Given the description of an element on the screen output the (x, y) to click on. 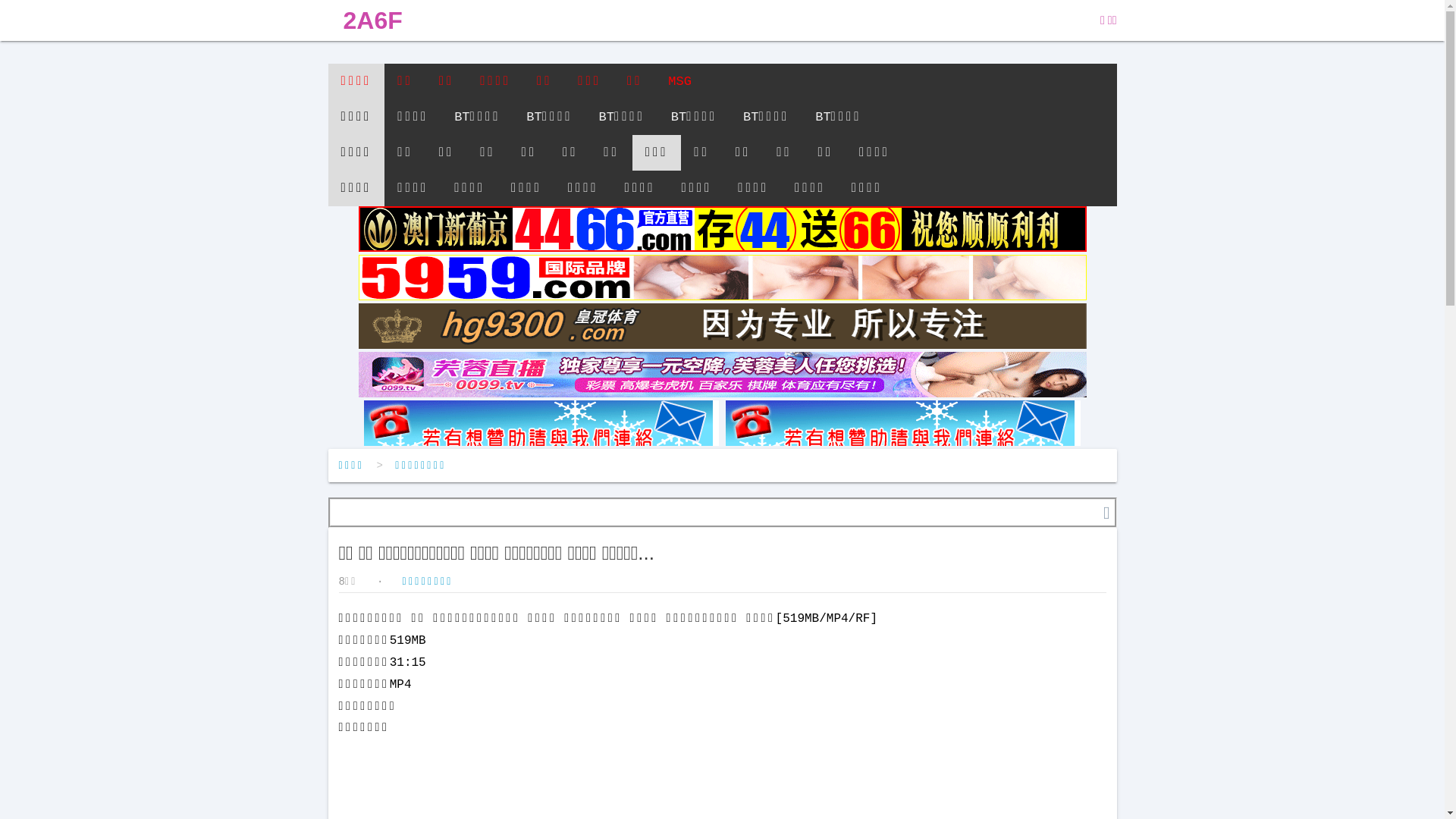
MSG Element type: text (679, 81)
2A6F Element type: text (372, 20)
